Given the description of an element on the screen output the (x, y) to click on. 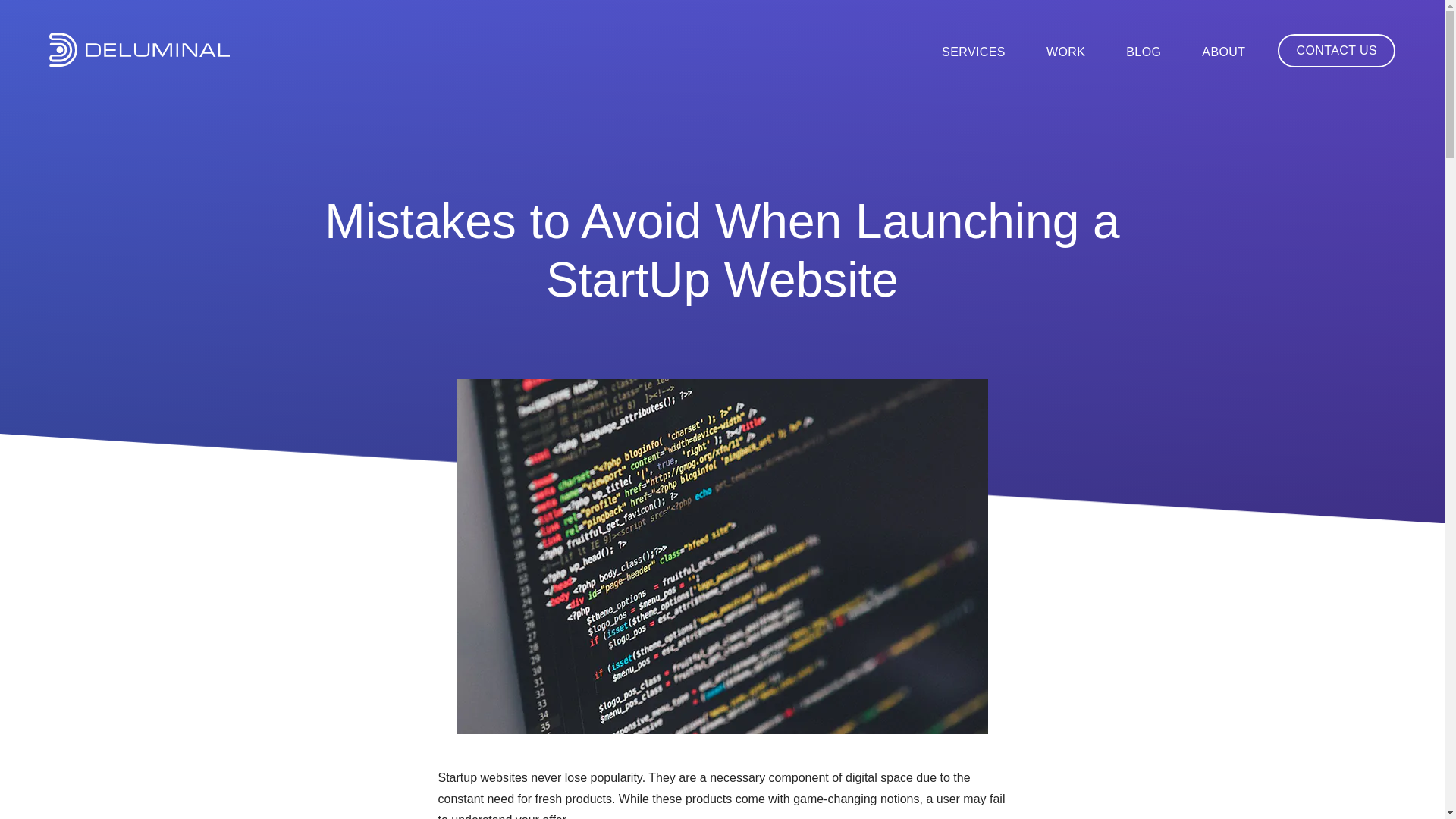
BLOG (1142, 52)
ABOUT (1223, 52)
SERVICES (974, 52)
CONTACT US (1336, 50)
WORK (1065, 52)
